Given the description of an element on the screen output the (x, y) to click on. 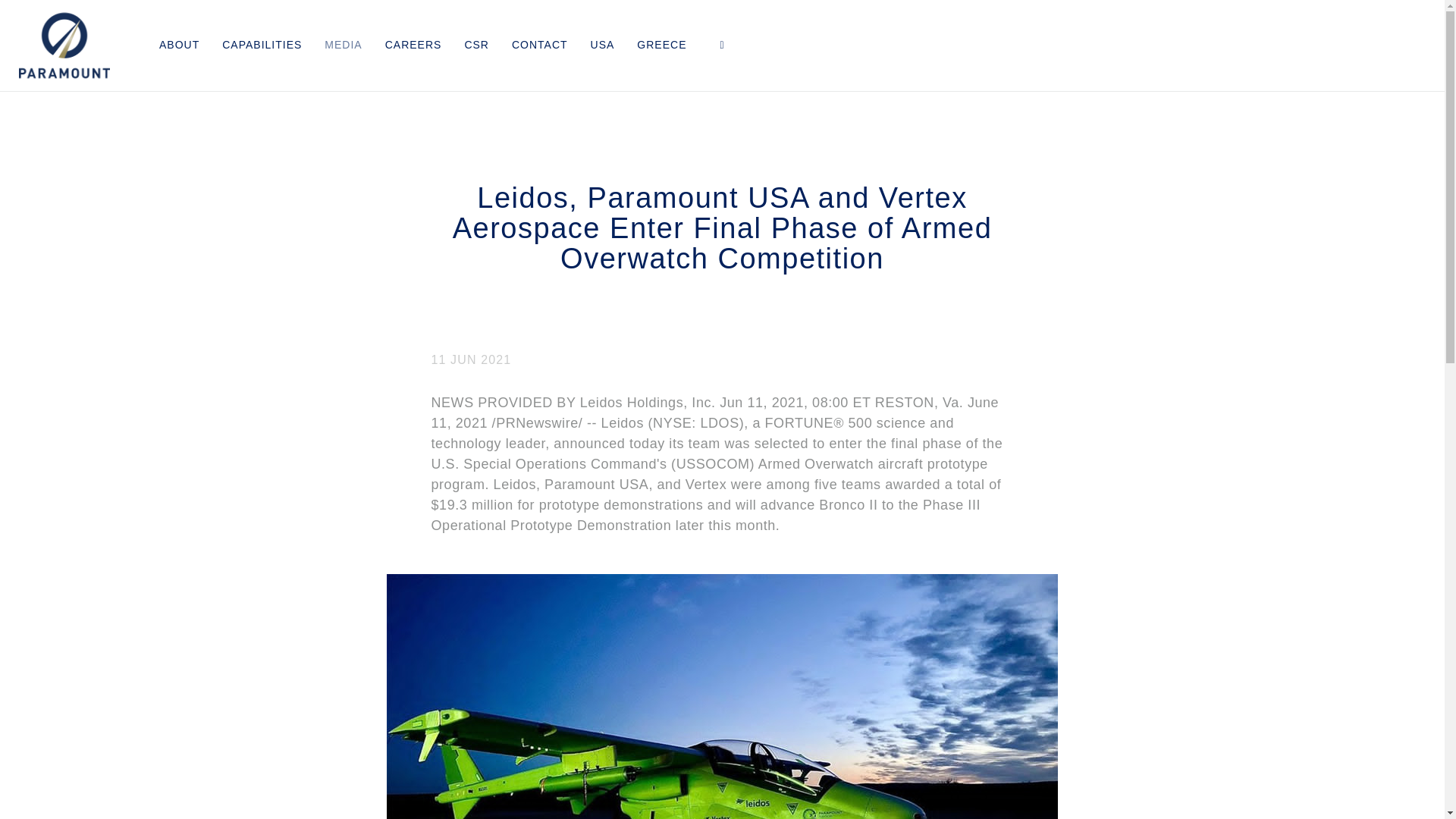
CAREERS (413, 41)
CAPABILITIES (262, 41)
CONTACT (539, 41)
